Given the description of an element on the screen output the (x, y) to click on. 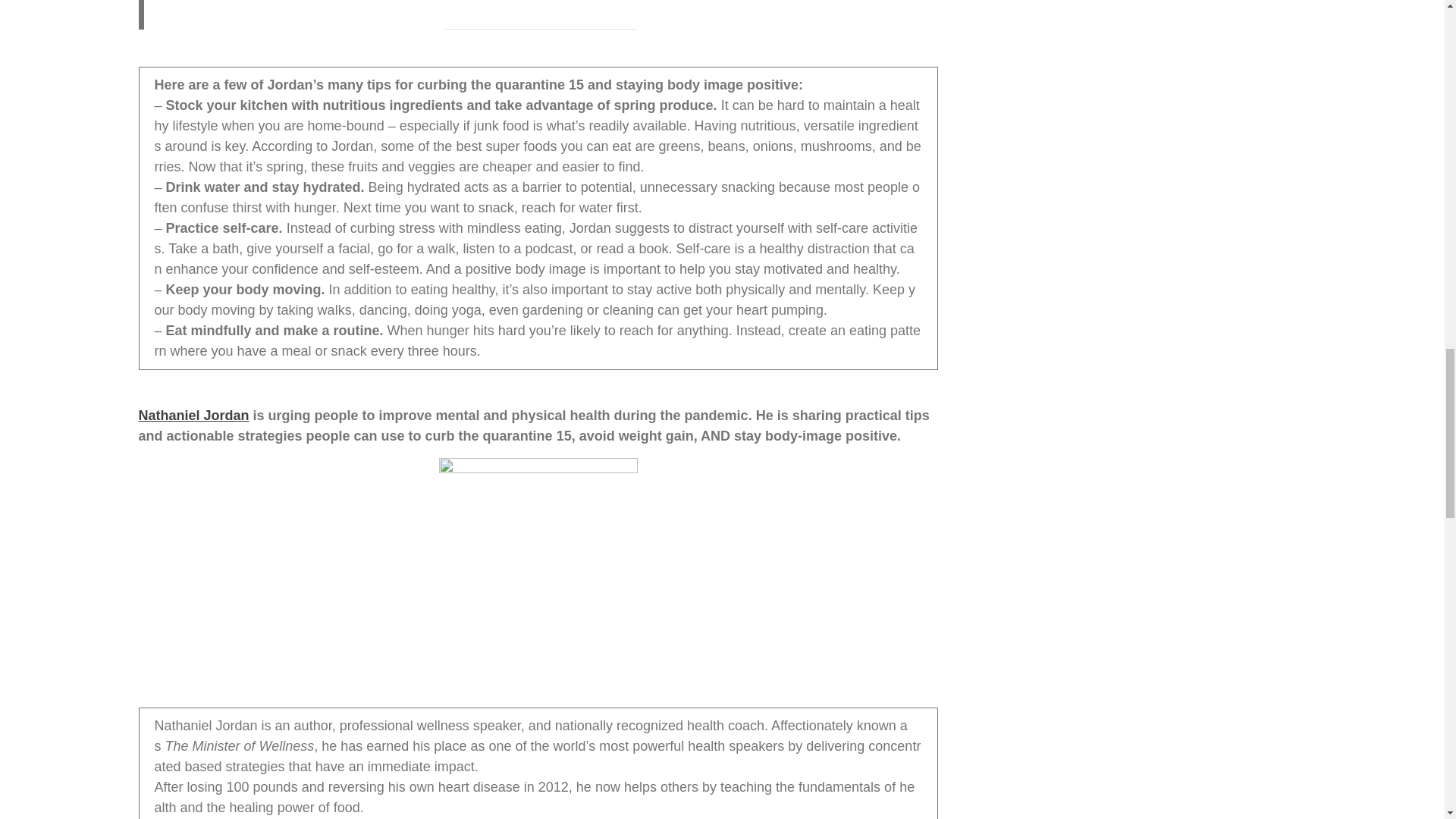
Nathaniel Jordan (193, 415)
